Given the description of an element on the screen output the (x, y) to click on. 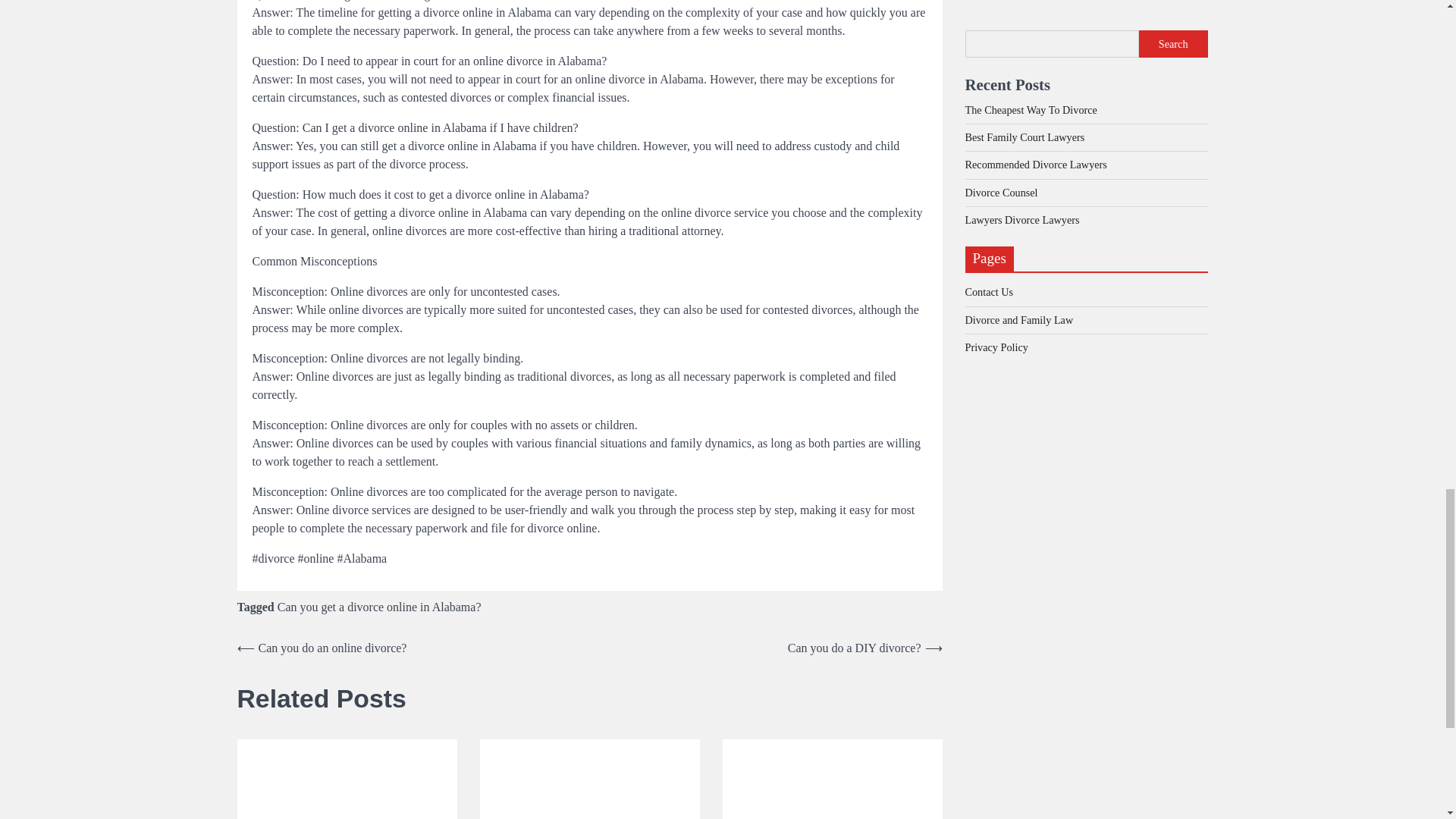
Can you get a divorce online in Alabama? (379, 606)
